Given the description of an element on the screen output the (x, y) to click on. 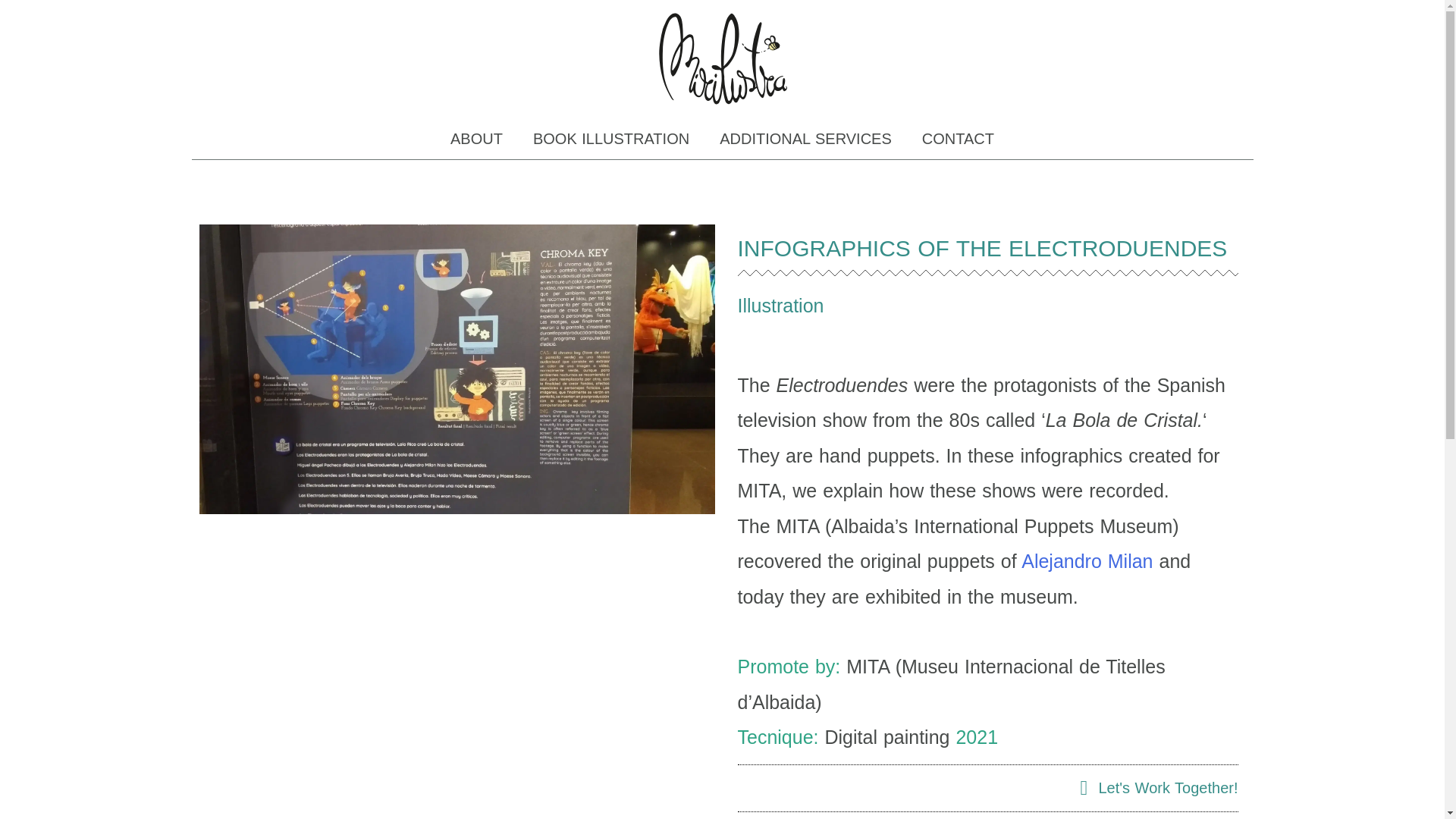
ADDITIONAL SERVICES (805, 138)
BOOK ILLUSTRATION (611, 138)
CONTACT (958, 138)
Let's Work Together! (1150, 787)
Alejandro Milan (1087, 560)
ABOUT (476, 138)
